Given the description of an element on the screen output the (x, y) to click on. 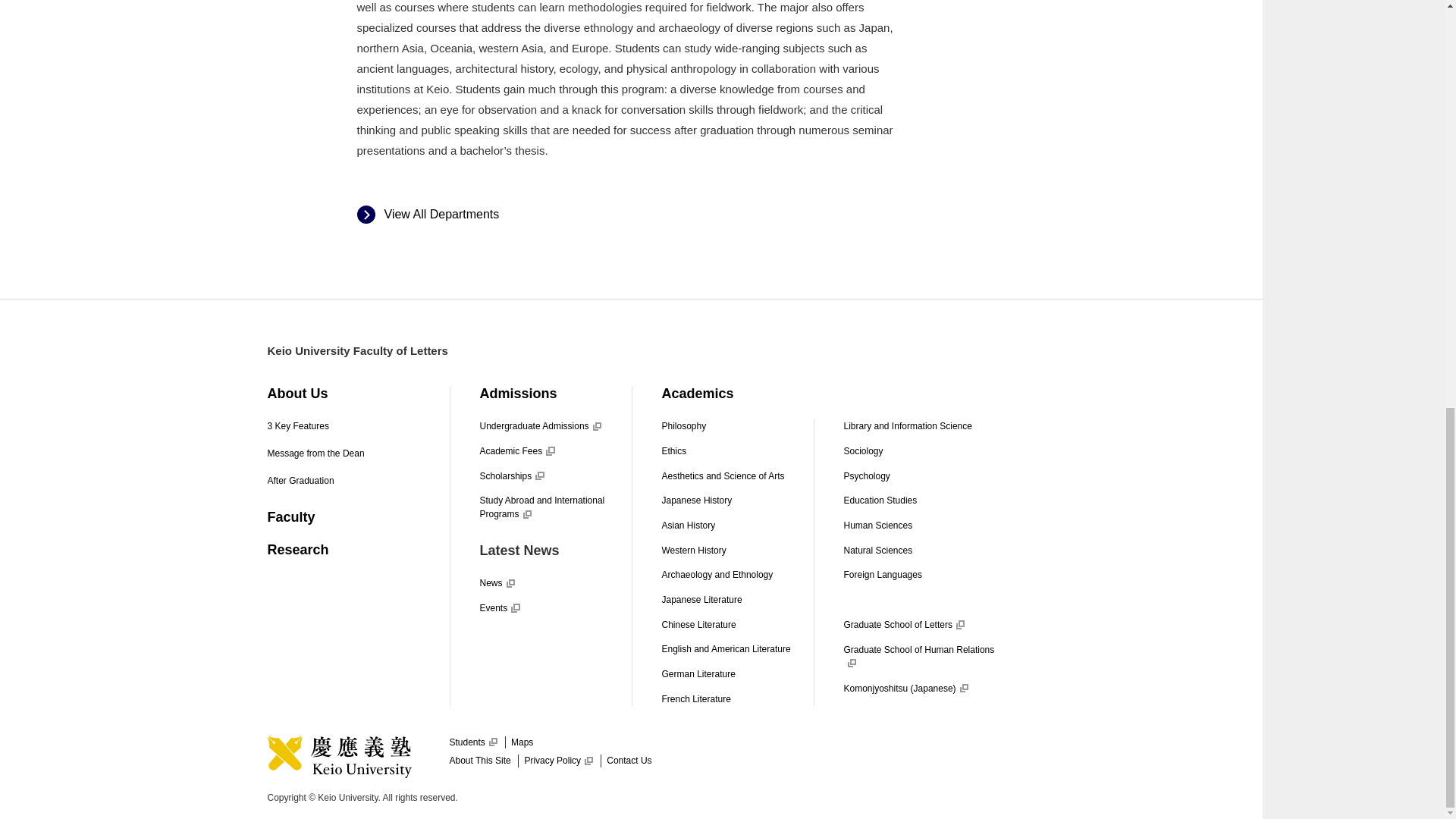
Aesthetics and Science of Arts (722, 475)
Education Studies (880, 500)
About Us (296, 393)
Graduate School of Letters (903, 624)
After Graduation (299, 480)
Philosophy (683, 425)
Research (297, 549)
News (496, 583)
3 Key Features (297, 425)
Academics (697, 393)
